Given the description of an element on the screen output the (x, y) to click on. 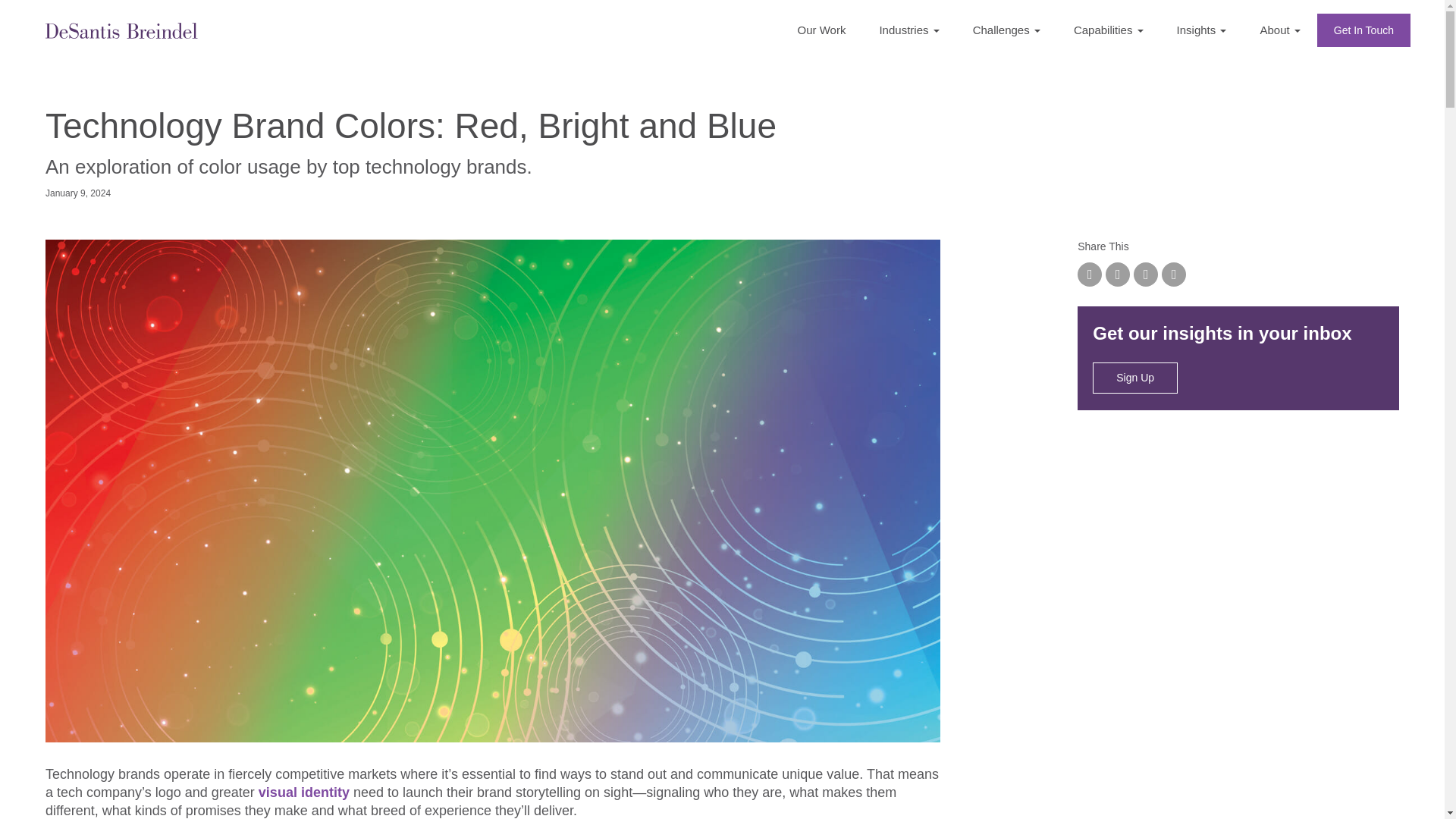
About (1279, 29)
Our Work (821, 29)
Challenges (1006, 29)
Insights (1201, 29)
Industries (908, 29)
Capabilities (1108, 29)
